Given the description of an element on the screen output the (x, y) to click on. 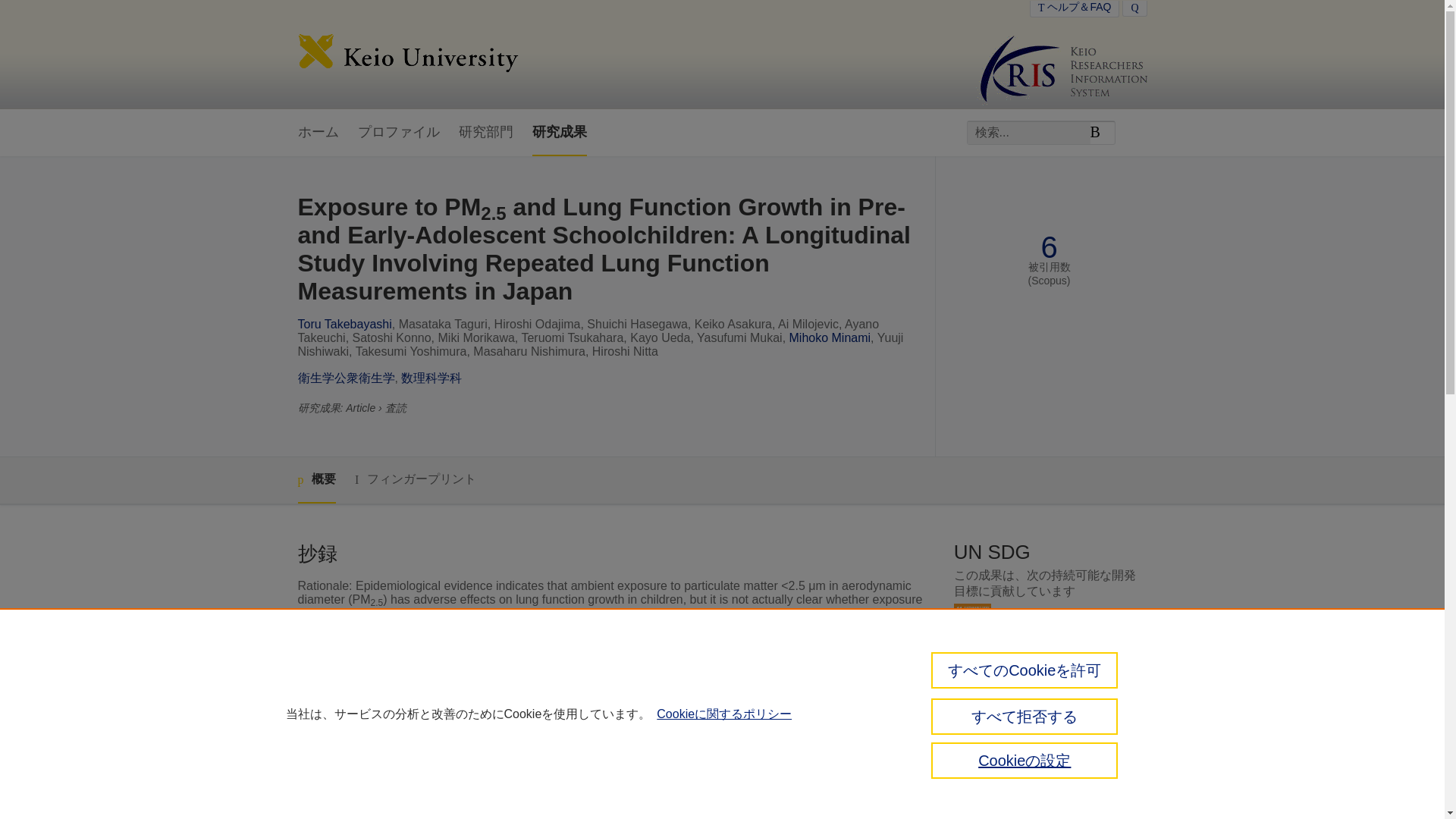
Mihoko Minami (829, 337)
Toru Takebayashi (344, 323)
